Given the description of an element on the screen output the (x, y) to click on. 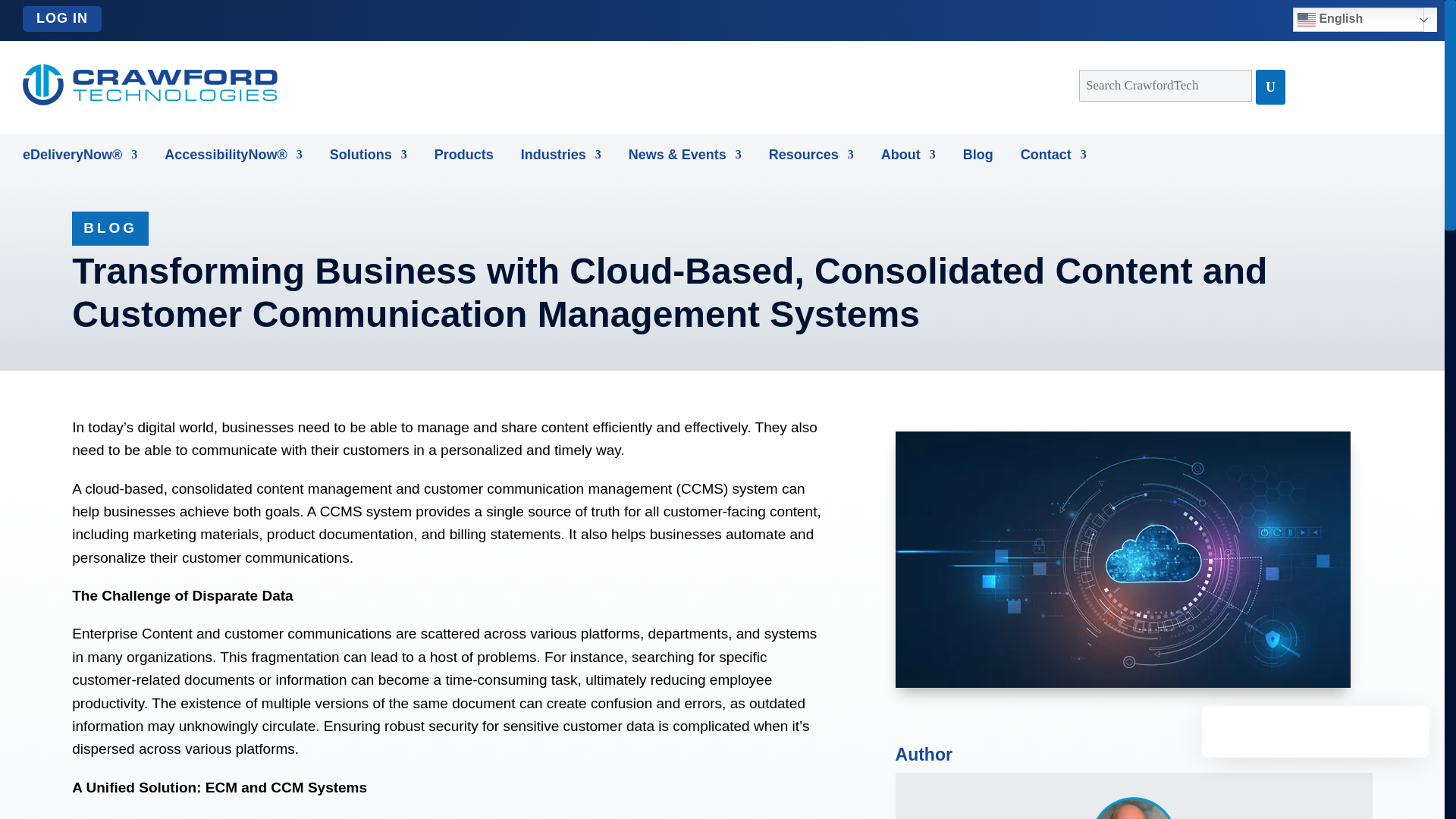
English (1357, 19)
LOG IN (62, 18)
